Given the description of an element on the screen output the (x, y) to click on. 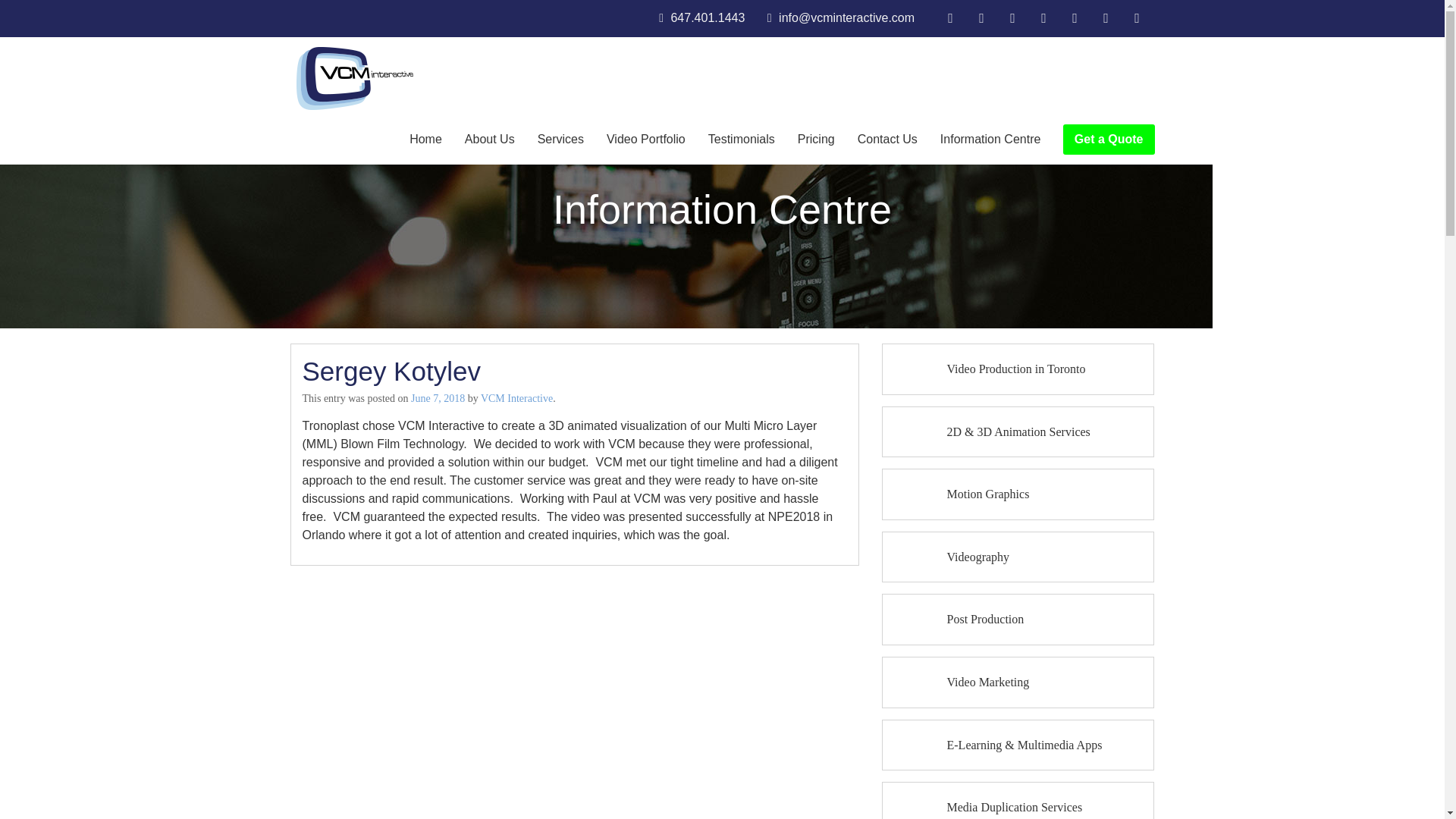
LinkedIn (1045, 18)
About Us (488, 139)
Instagram (1138, 18)
Facebook (952, 18)
Blog (1014, 18)
VCM Interactive (354, 77)
Twitter (984, 18)
facebook (952, 18)
Vimeo (1107, 18)
LinkedIn (1045, 18)
